Given the description of an element on the screen output the (x, y) to click on. 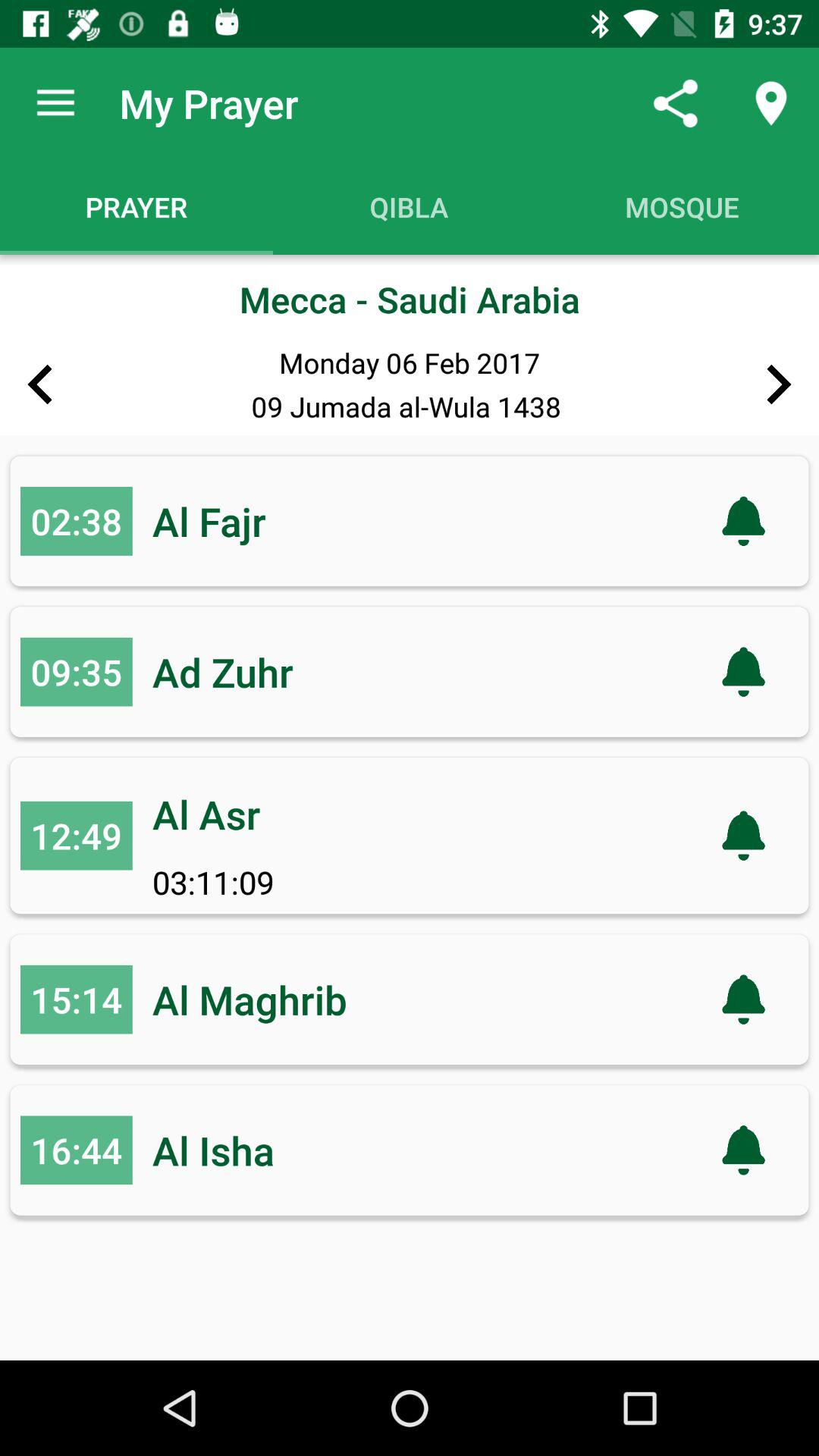
tap item to the left of ad zuhr item (76, 671)
